Given the description of an element on the screen output the (x, y) to click on. 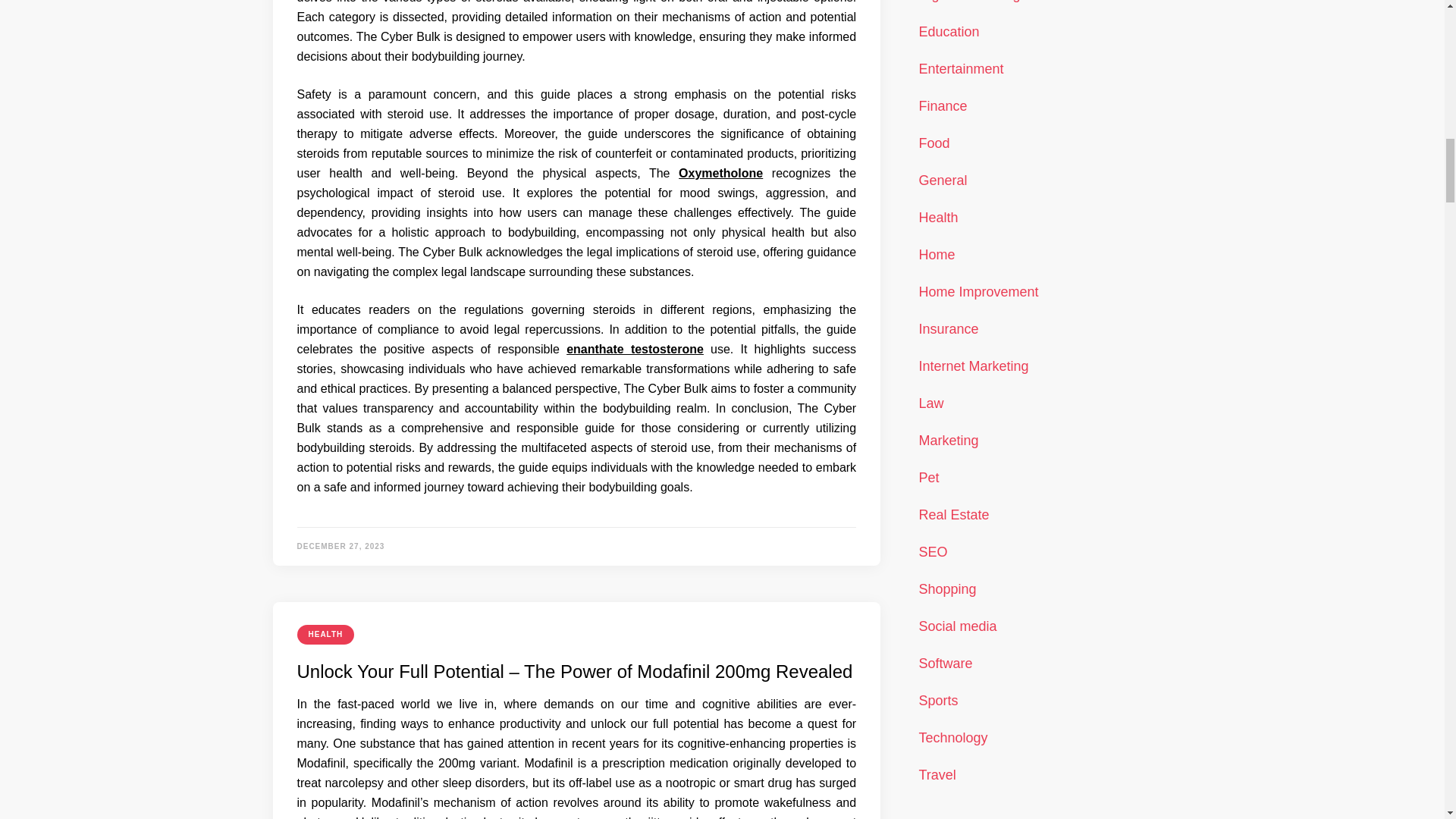
HEALTH (326, 634)
enanthate testosterone (634, 349)
Oxymetholone (720, 173)
DECEMBER 27, 2023 (341, 546)
